Given the description of an element on the screen output the (x, y) to click on. 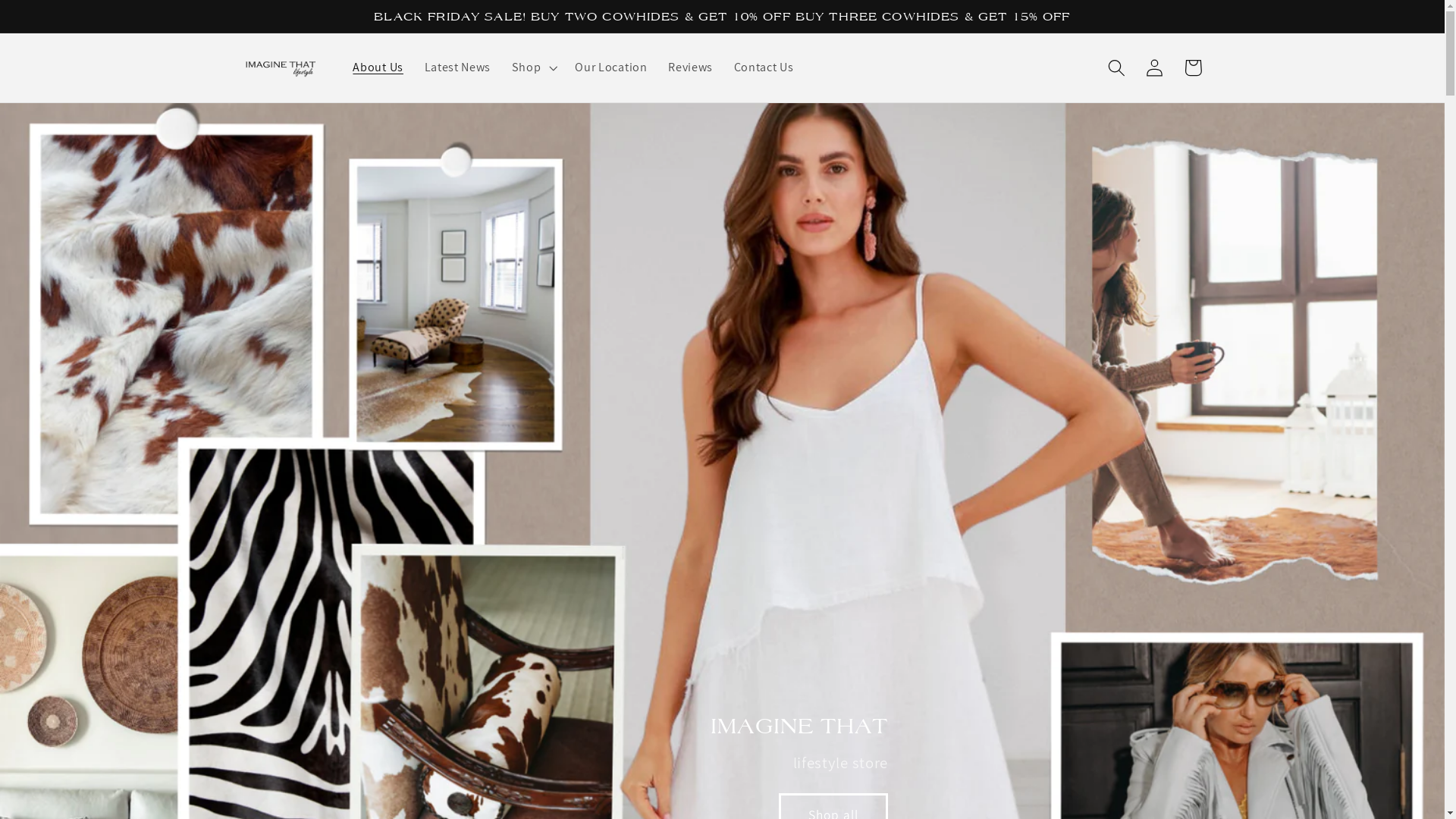
Our Location Element type: text (611, 67)
Log in Element type: text (1154, 67)
Reviews Element type: text (689, 67)
Cart Element type: text (1192, 67)
Contact Us Element type: text (763, 67)
Latest News Element type: text (457, 67)
About Us Element type: text (378, 67)
